Given the description of an element on the screen output the (x, y) to click on. 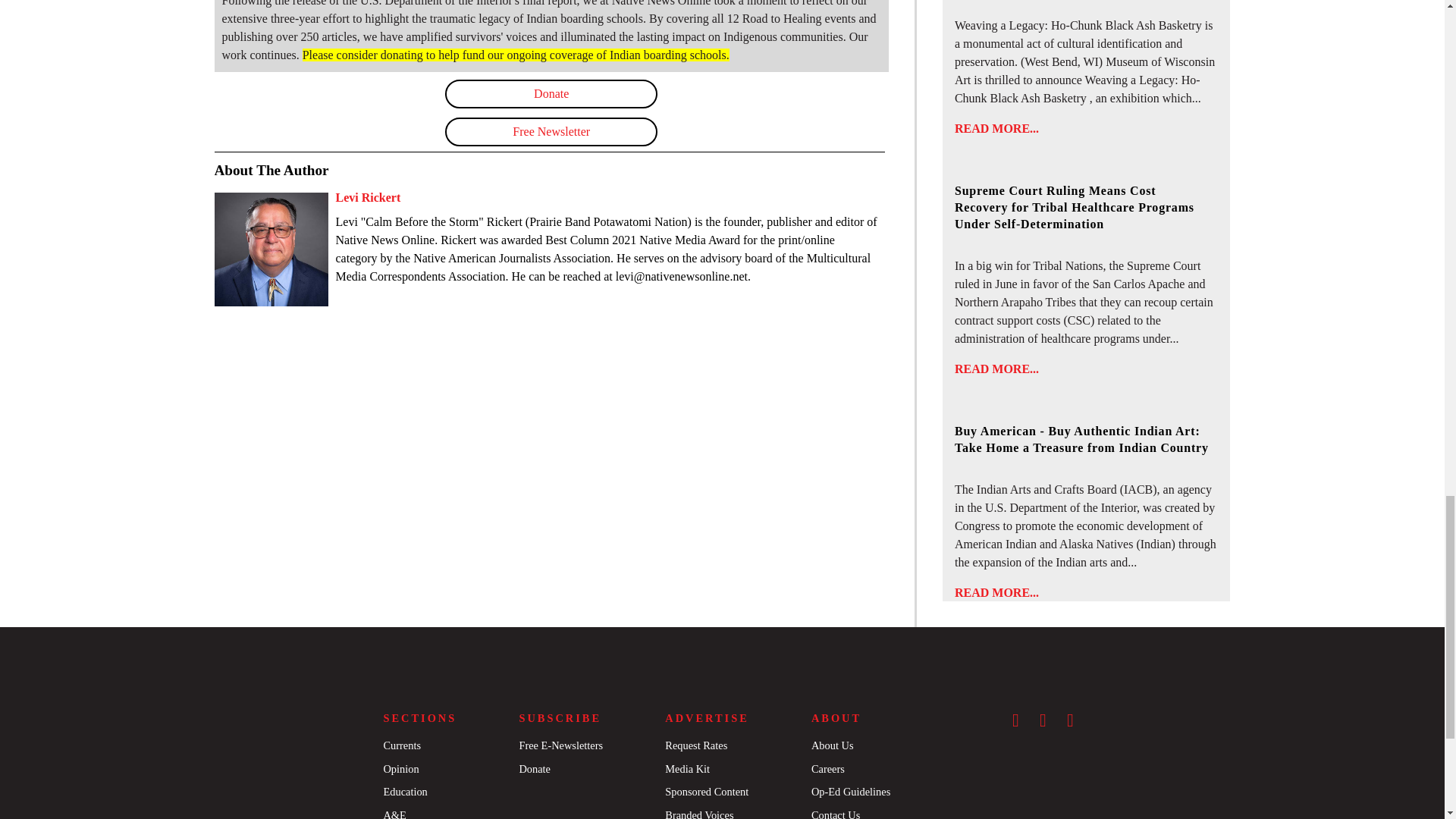
Free E-Newsletters (560, 745)
Donate (551, 93)
Sponsored Content (706, 791)
Opinion (400, 768)
Media Kit (687, 768)
Levi Rickert (367, 196)
Currents (401, 745)
Levi Rickert (367, 196)
Branded Voices (699, 814)
Education (404, 791)
